Given the description of an element on the screen output the (x, y) to click on. 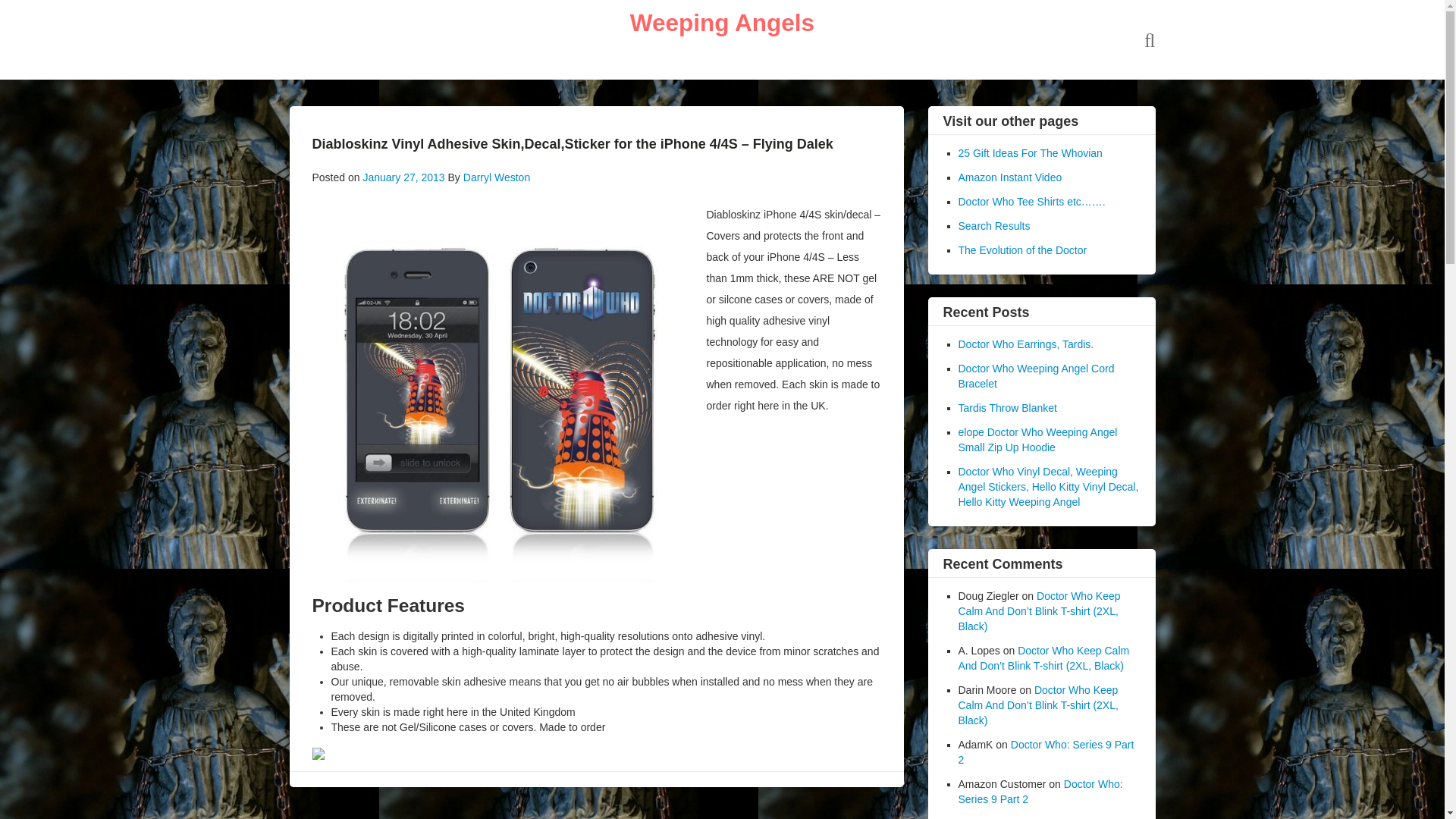
Amazon Instant Video (1010, 177)
Weeping Angels (721, 22)
Doctor Who Earrings, Tardis. (1026, 344)
Doctor Who: Series 9 Part 2 (1046, 751)
Doctor Who: Series 9 Part 2 (1040, 791)
January 27, 2013 (403, 177)
Tardis Throw Blanket (1007, 408)
Search Results (994, 225)
The scariest enemy since the Daleks! (721, 22)
